Given the description of an element on the screen output the (x, y) to click on. 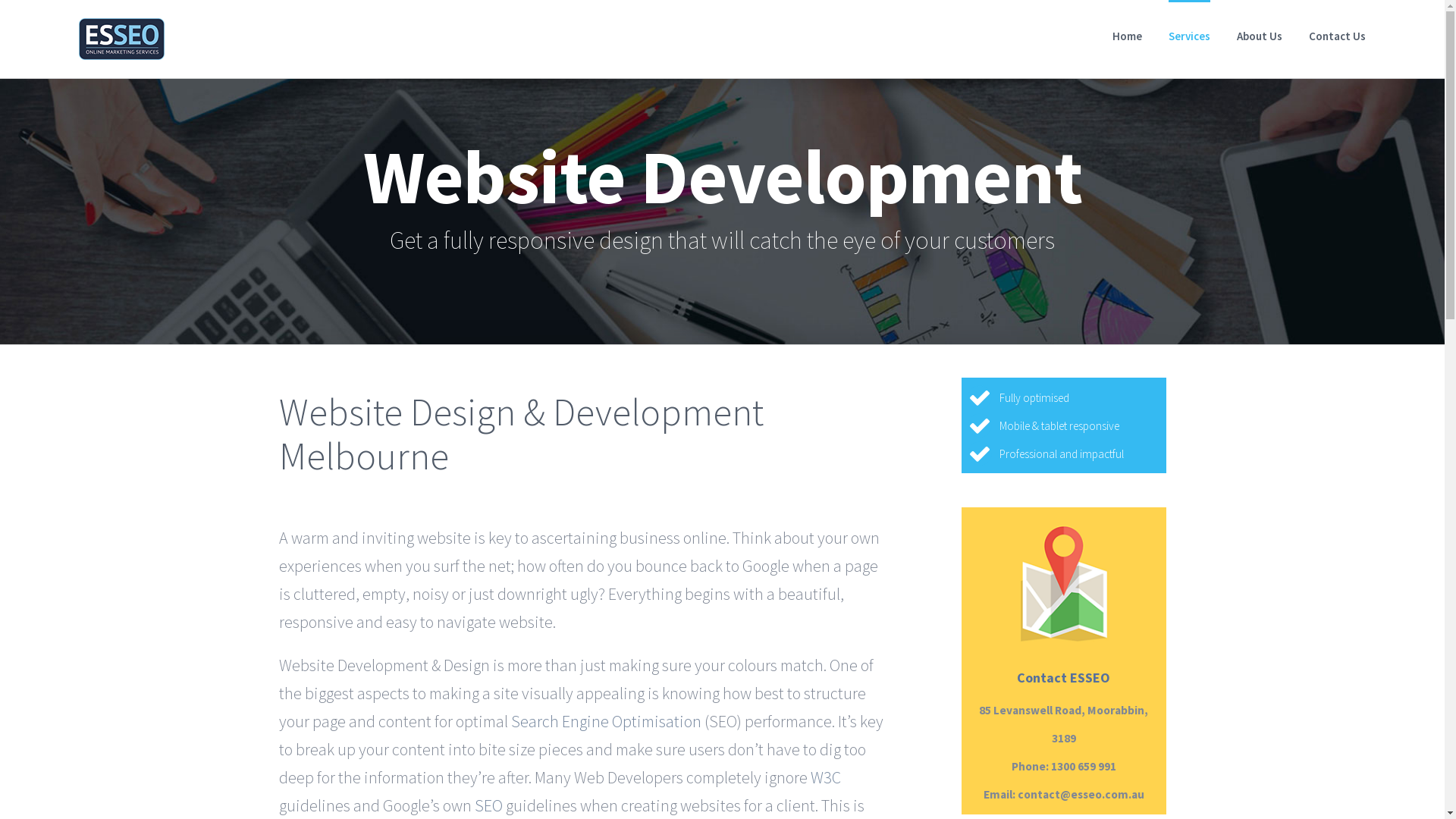
Services Element type: text (1189, 35)
SEO Element type: text (489, 804)
About Us Element type: text (1259, 35)
Home Element type: text (1127, 35)
W3C Element type: text (824, 776)
Contact Us Element type: text (1336, 35)
Search Engine Optimisation Element type: text (606, 720)
